Given the description of an element on the screen output the (x, y) to click on. 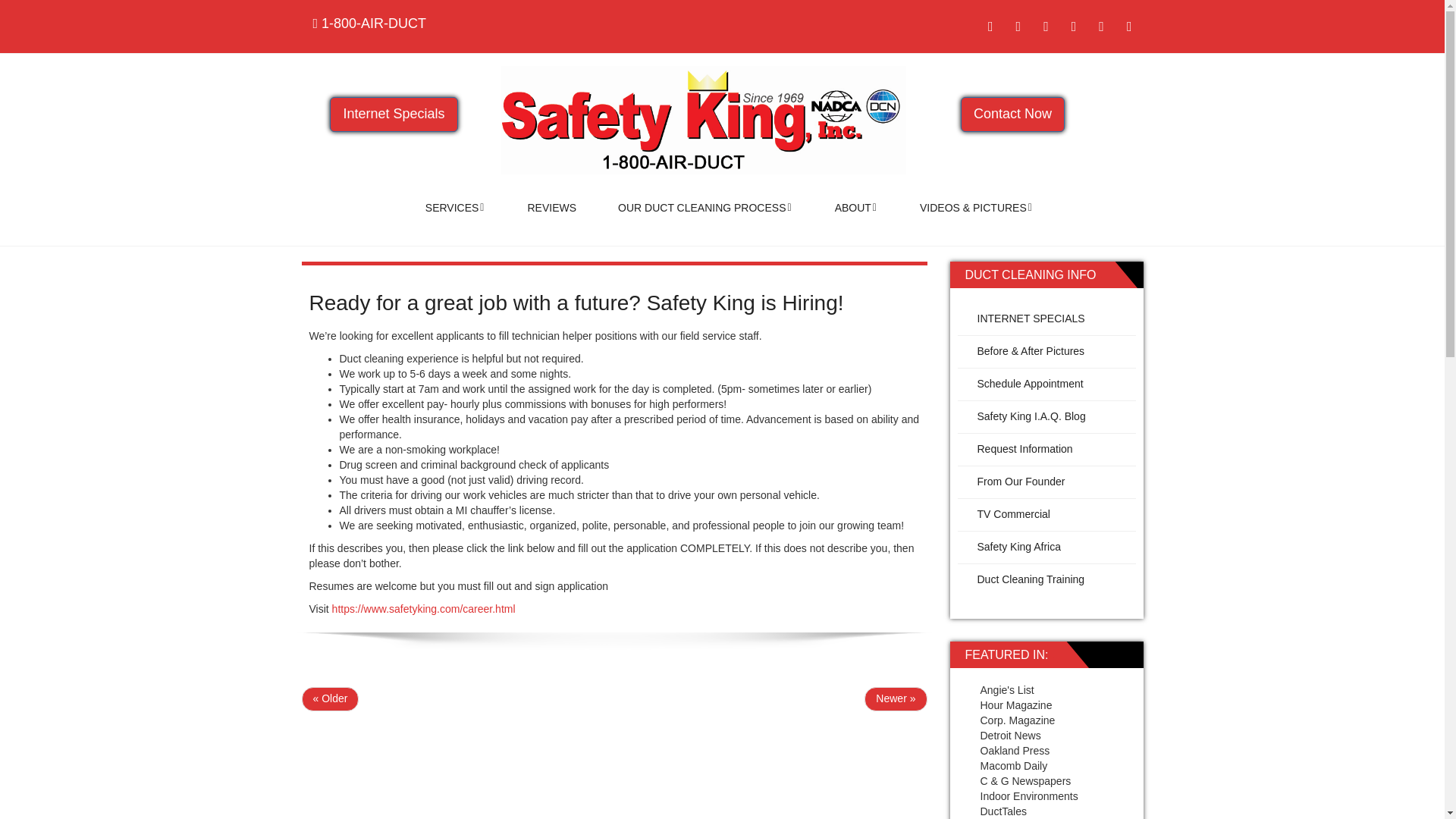
Internet Specials (393, 114)
Contact Now (1012, 114)
SERVICES (455, 207)
Ready for a great job with a future? Safety King is Hiring! (576, 302)
REVIEWS (551, 207)
OUR DUCT CLEANING PROCESS (705, 207)
ABOUT (855, 207)
